Given the description of an element on the screen output the (x, y) to click on. 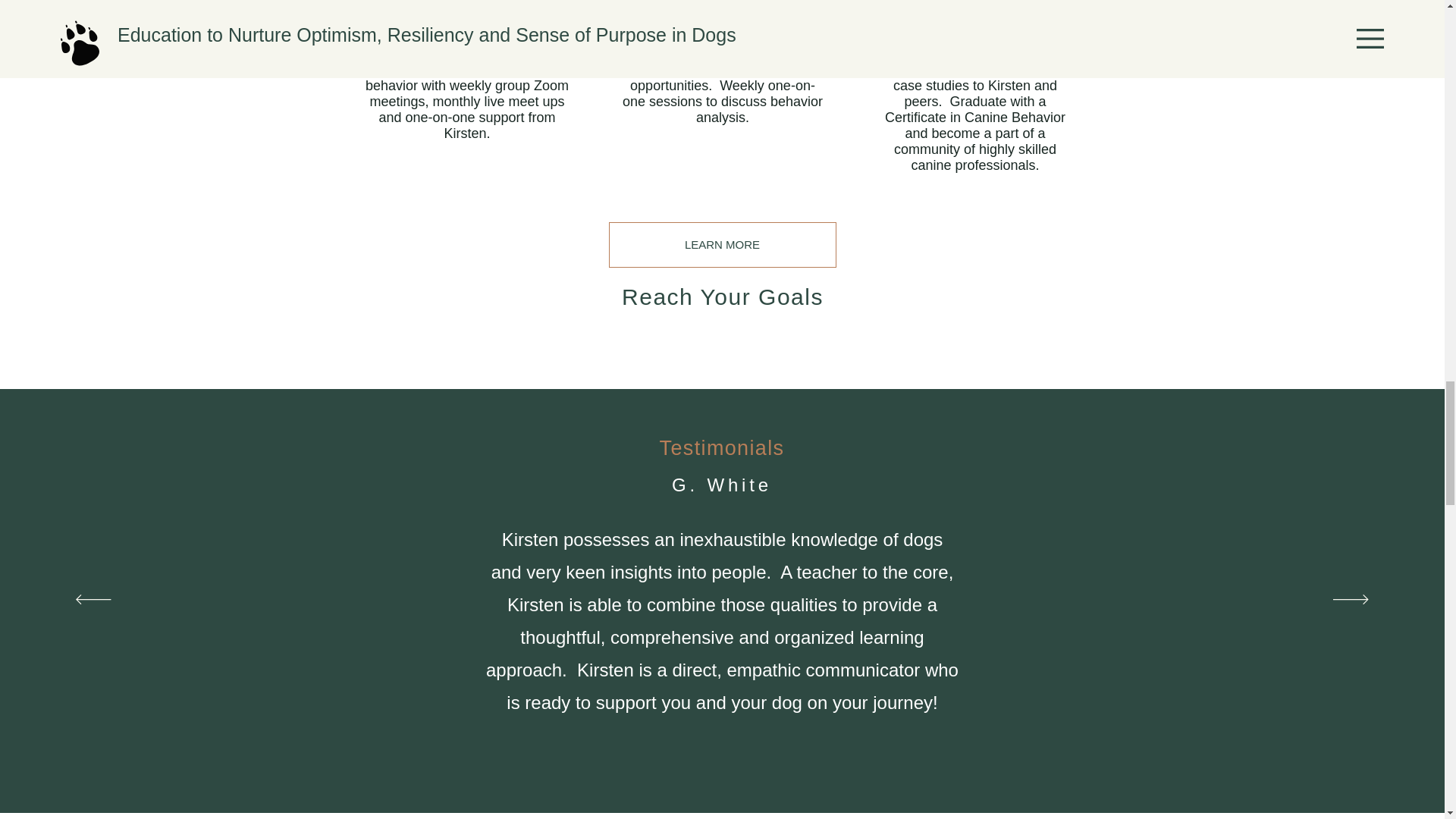
LEARN MORE (721, 244)
